Given the description of an element on the screen output the (x, y) to click on. 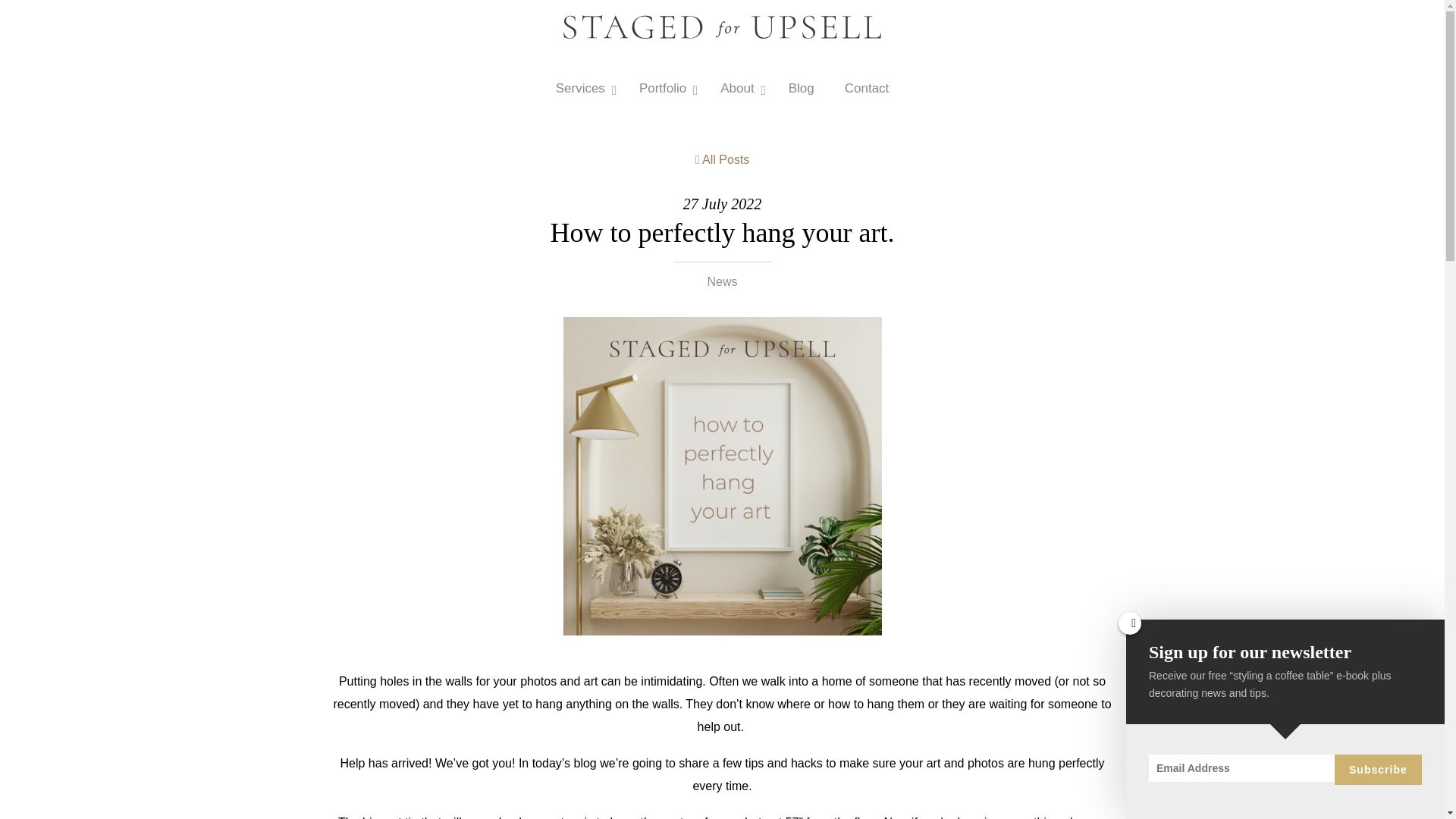
Portfolio (664, 88)
About (738, 88)
Services (582, 88)
Contact (866, 88)
All Posts (722, 159)
Blog (721, 88)
News (801, 88)
